Given the description of an element on the screen output the (x, y) to click on. 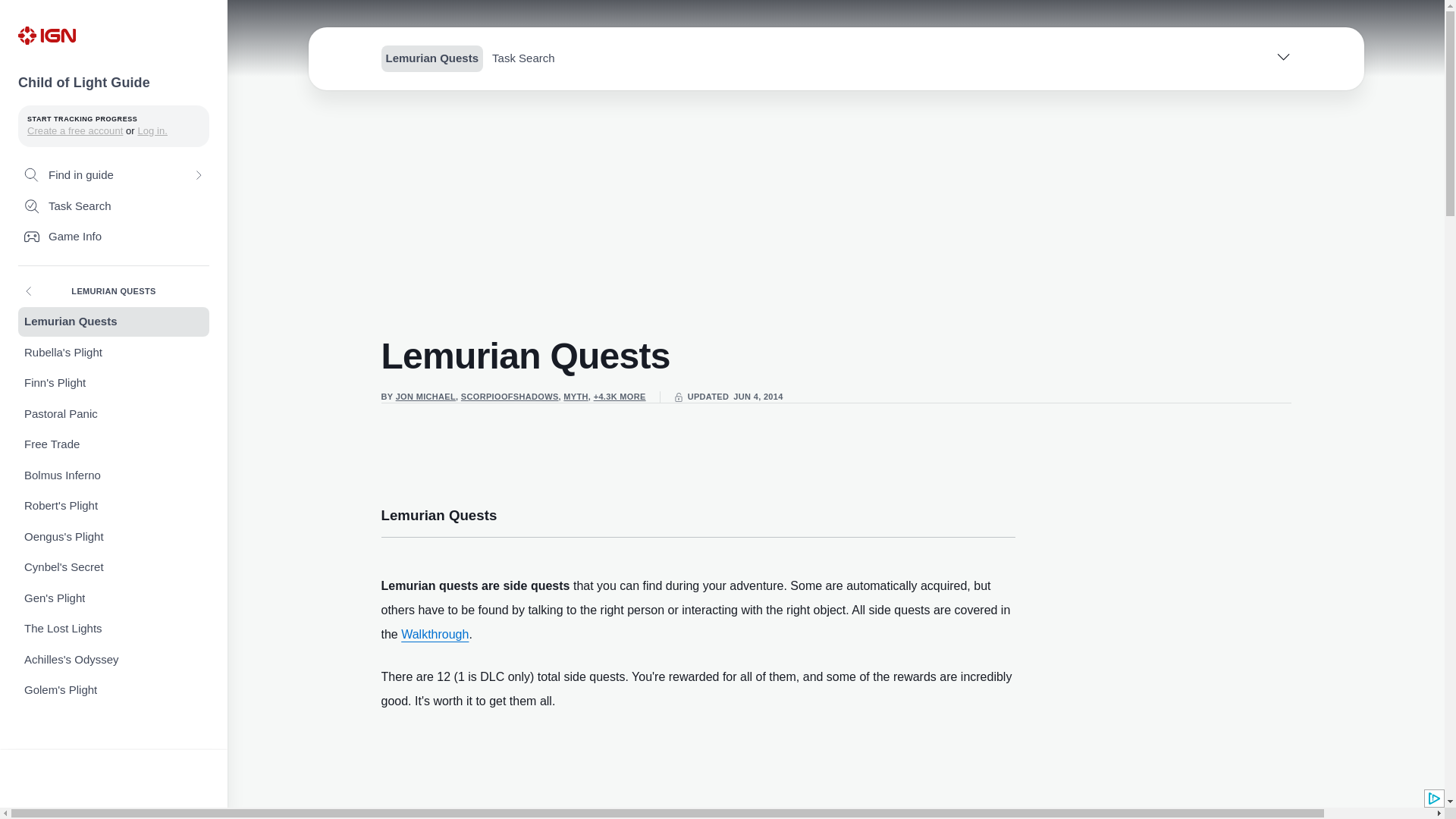
Achilles's Odyssey (113, 659)
Achilles's Odyssey (113, 659)
Pastoral Panic (113, 414)
Find in guide (113, 175)
Log in. (151, 130)
Game Info (113, 236)
Bolmus Inferno (113, 475)
Oengus's Plight (113, 537)
IGN (46, 35)
Free Trade (113, 444)
Pastoral Panic (113, 414)
Rubella's Plight (113, 352)
Oengus's Plight (113, 537)
The Lost Lights (113, 628)
Task Search (113, 206)
